Given the description of an element on the screen output the (x, y) to click on. 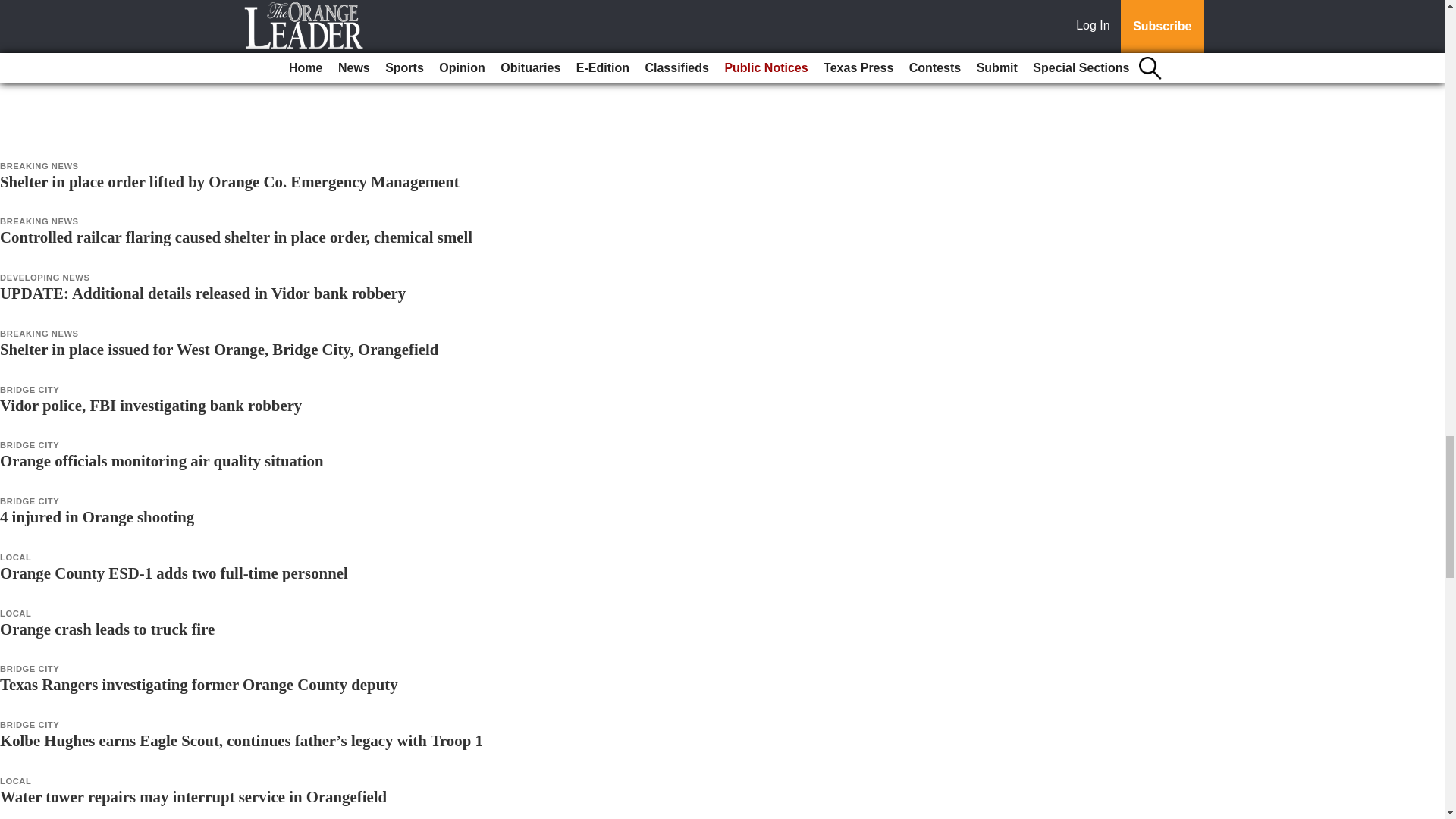
4 injured in Orange shooting (96, 516)
Vidor police, FBI investigating bank robbery (150, 405)
Orange officials monitoring air quality situation (161, 460)
4 injured in Orange shooting (96, 516)
UPDATE: Additional details released in Vidor bank robbery (203, 293)
Orange crash leads to truck fire (107, 628)
Water tower repairs may interrupt service in Orangefield (193, 796)
UPDATE: Additional details released in Vidor bank robbery (203, 293)
Orange County ESD-1 adds two full-time personnel (173, 572)
Orange County ESD-1 adds two full-time personnel (173, 572)
Vidor police, FBI investigating bank robbery (150, 405)
Texas Rangers investigating former Orange County deputy (198, 683)
